Given the description of an element on the screen output the (x, y) to click on. 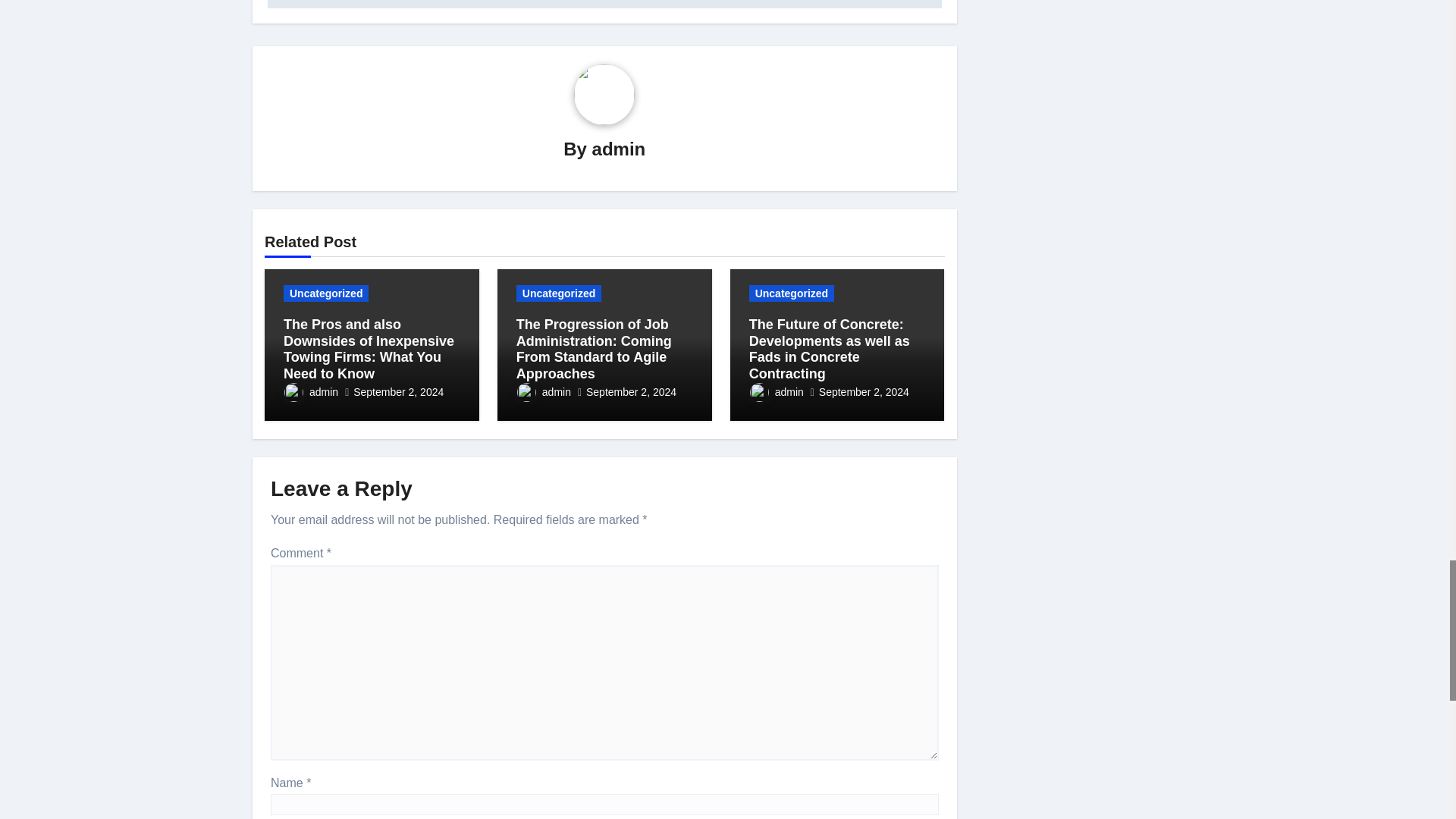
Uncategorized (325, 293)
admin (619, 148)
